Given the description of an element on the screen output the (x, y) to click on. 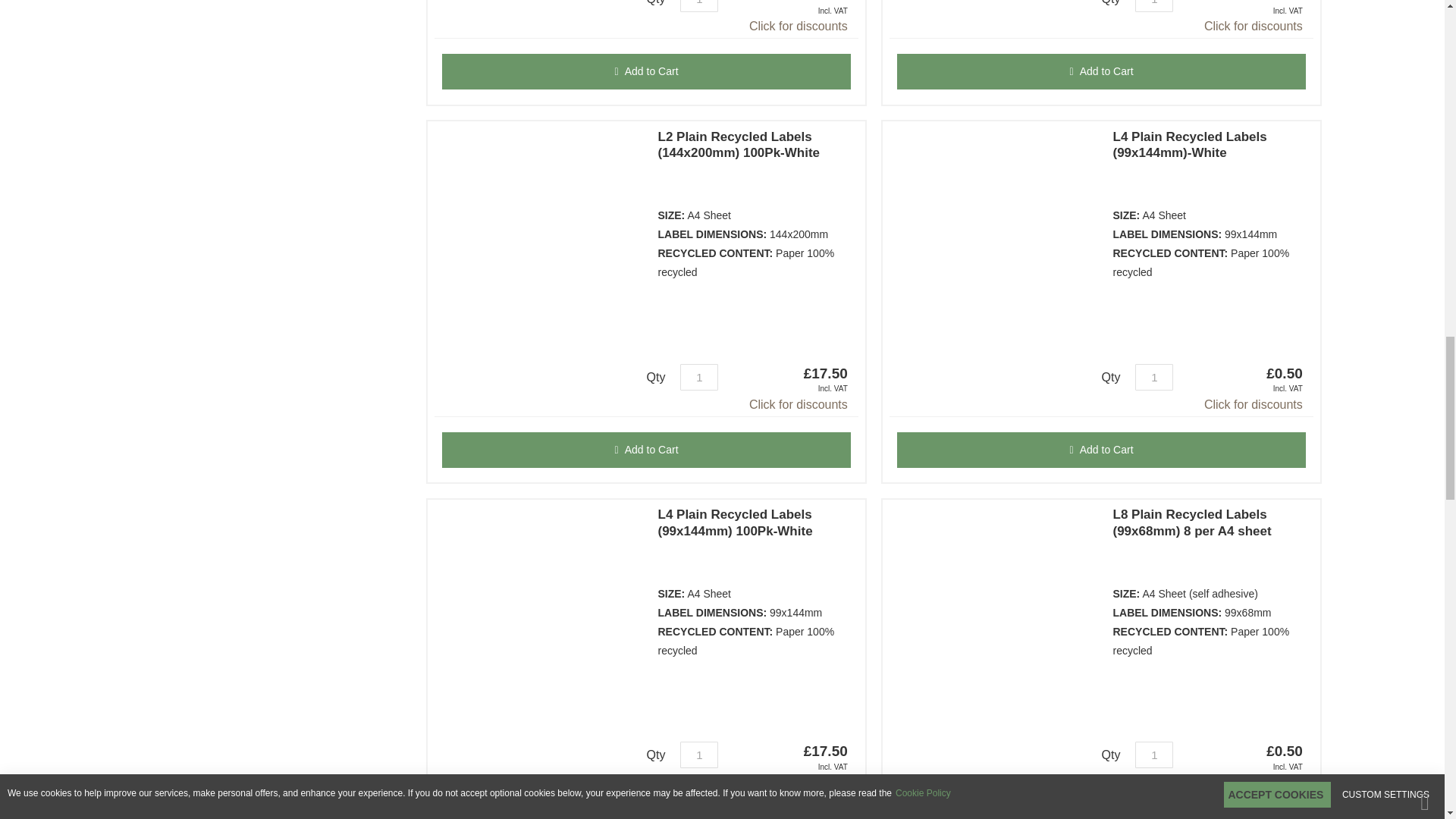
1 (1154, 755)
1 (1154, 6)
1 (698, 6)
1 (698, 755)
1 (1154, 376)
1 (698, 376)
